Given the description of an element on the screen output the (x, y) to click on. 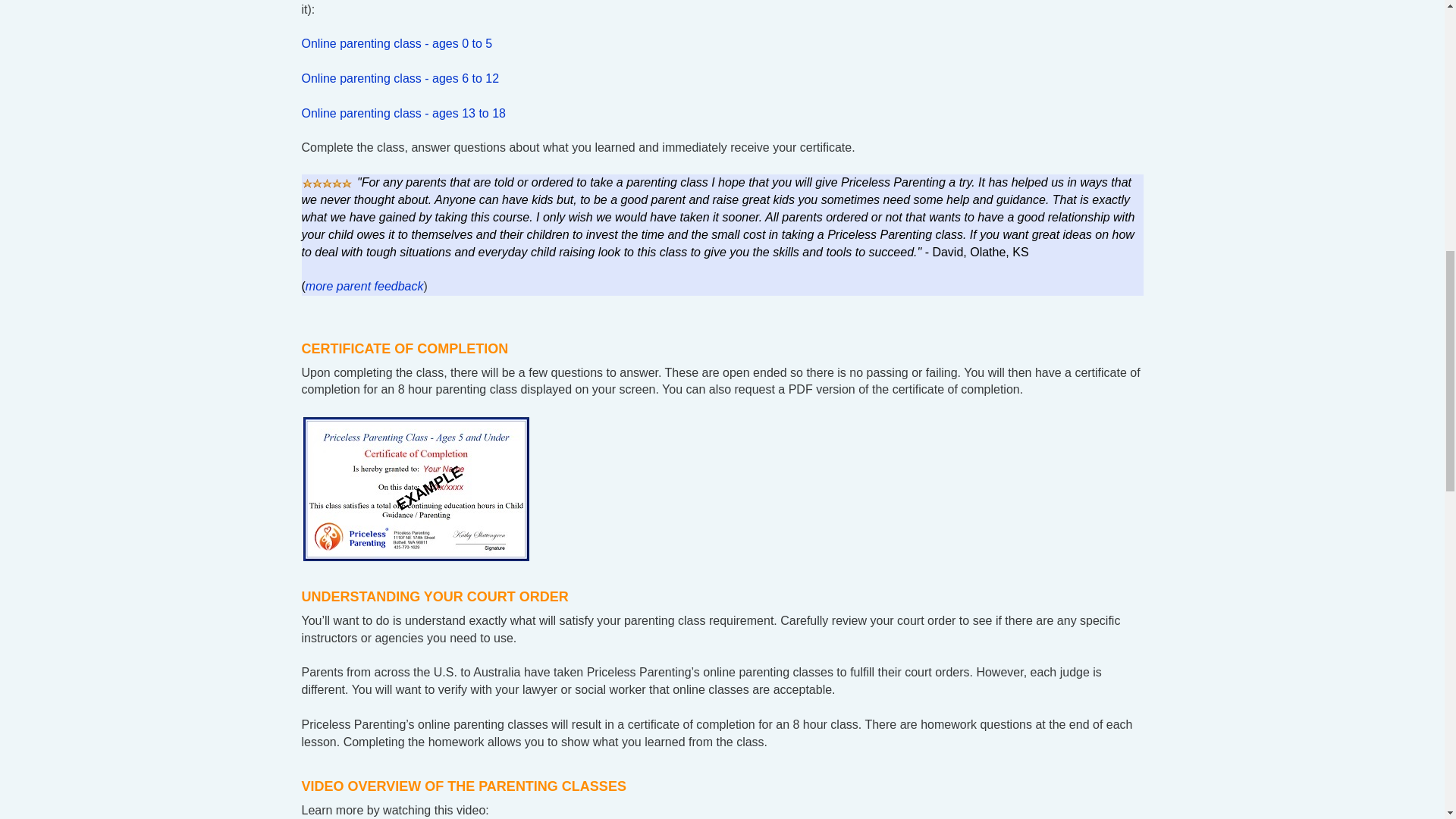
Online parenting class - ages 6 to 12 (400, 78)
Online parenting class - ages 13 to 18 (403, 113)
more parent feedback (364, 286)
Online parenting class - ages 0 to 5 (397, 42)
